Given the description of an element on the screen output the (x, y) to click on. 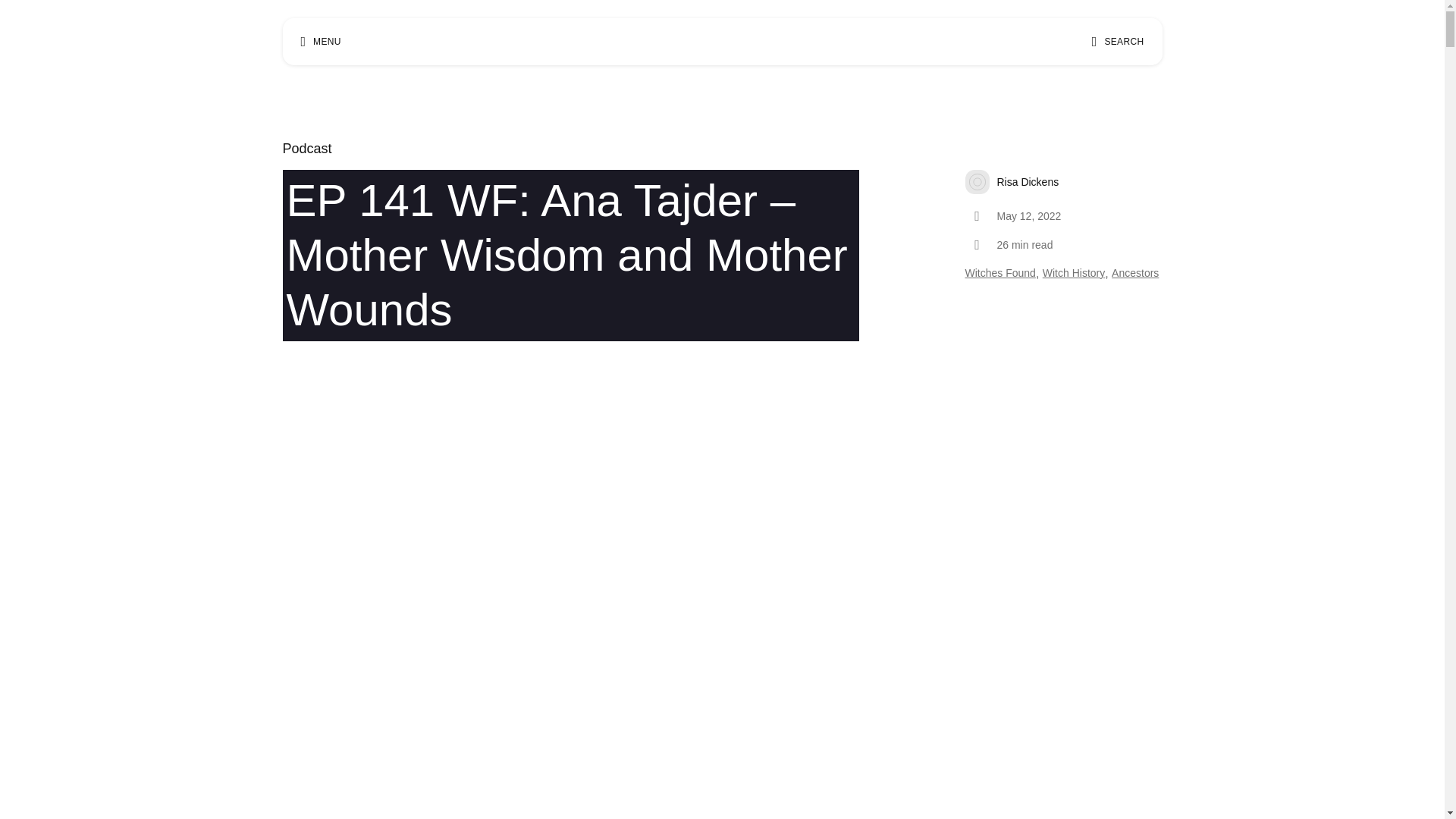
Podcast (306, 149)
Risa Dickens (1062, 181)
Missing Witches (715, 41)
MENU (320, 41)
Ancestors (1135, 273)
Witches Found (999, 273)
SEARCH (1118, 41)
Witch History (1073, 273)
